Given the description of an element on the screen output the (x, y) to click on. 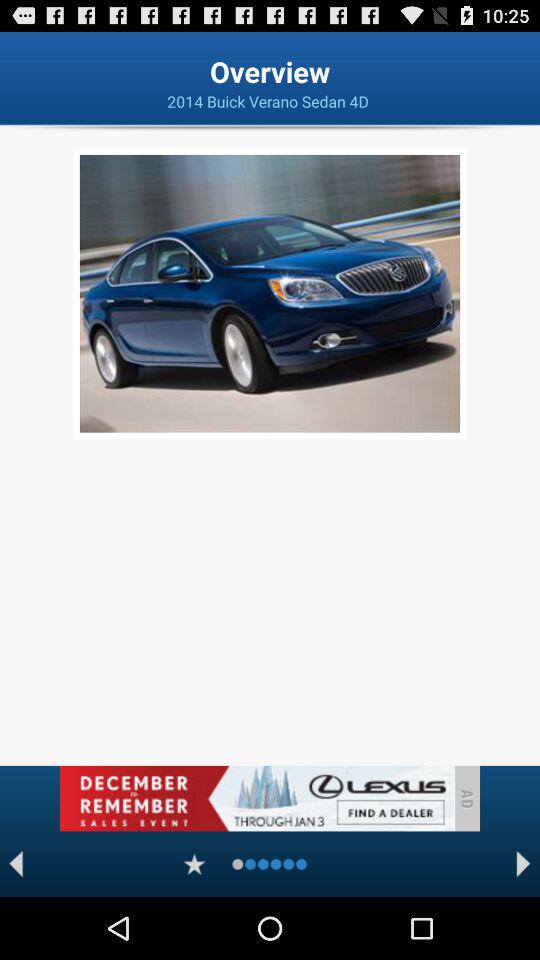
go back (16, 864)
